Given the description of an element on the screen output the (x, y) to click on. 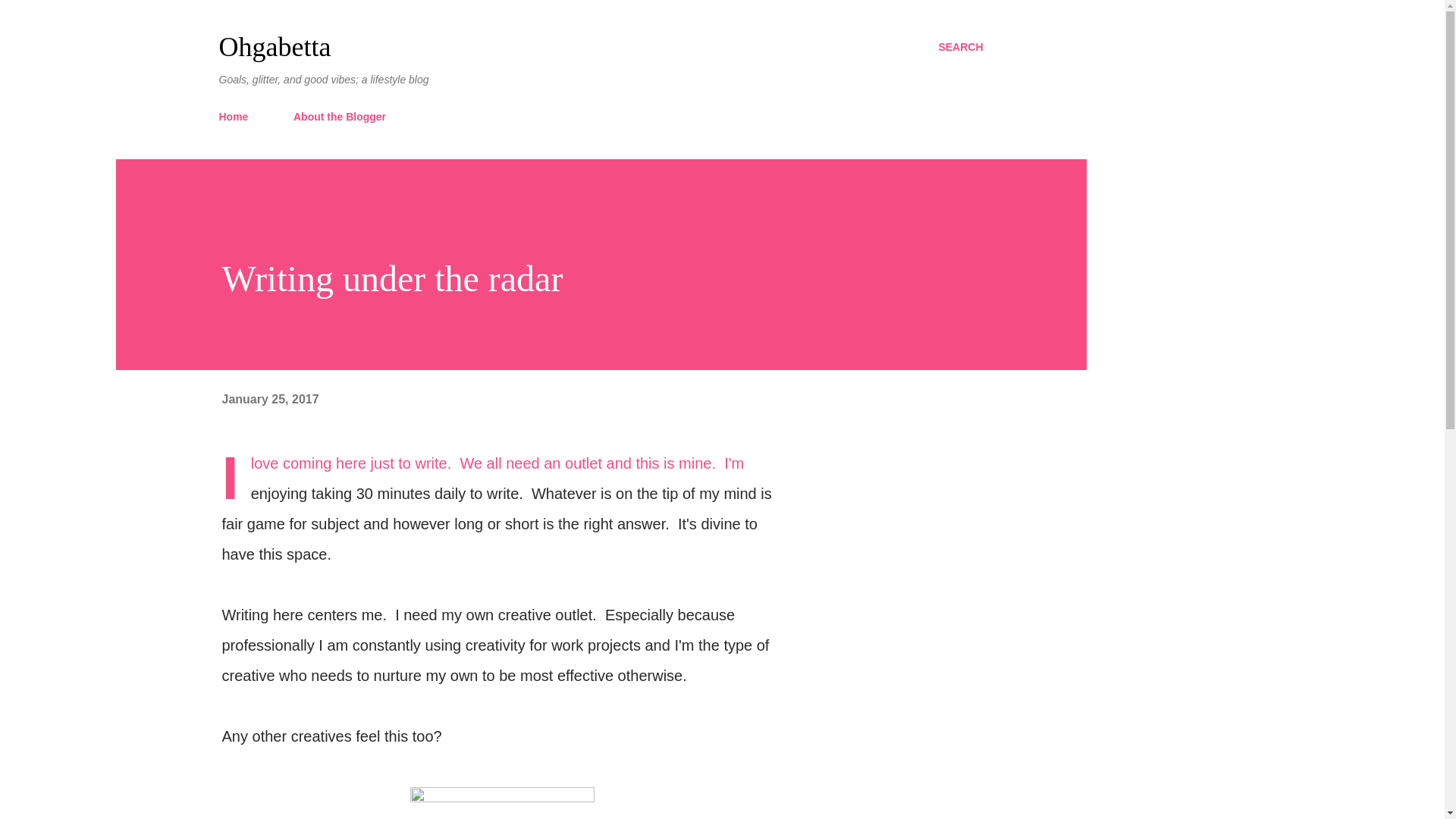
permanent link (269, 399)
SEARCH (959, 46)
January 25, 2017 (269, 399)
About the Blogger (338, 116)
Ohgabetta (274, 46)
Home (237, 116)
